Given the description of an element on the screen output the (x, y) to click on. 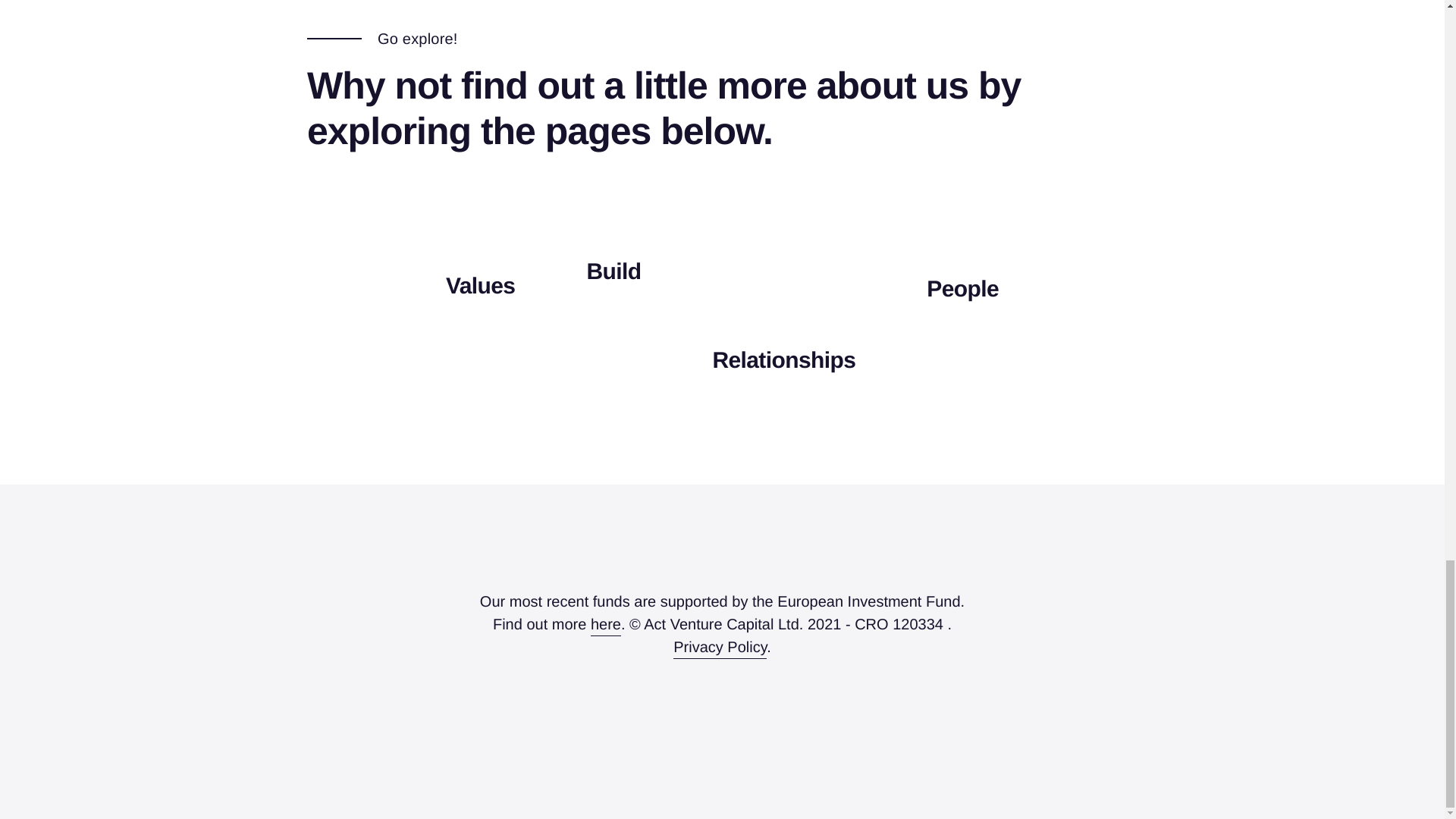
Privacy Policy (719, 648)
here (606, 625)
